Given the description of an element on the screen output the (x, y) to click on. 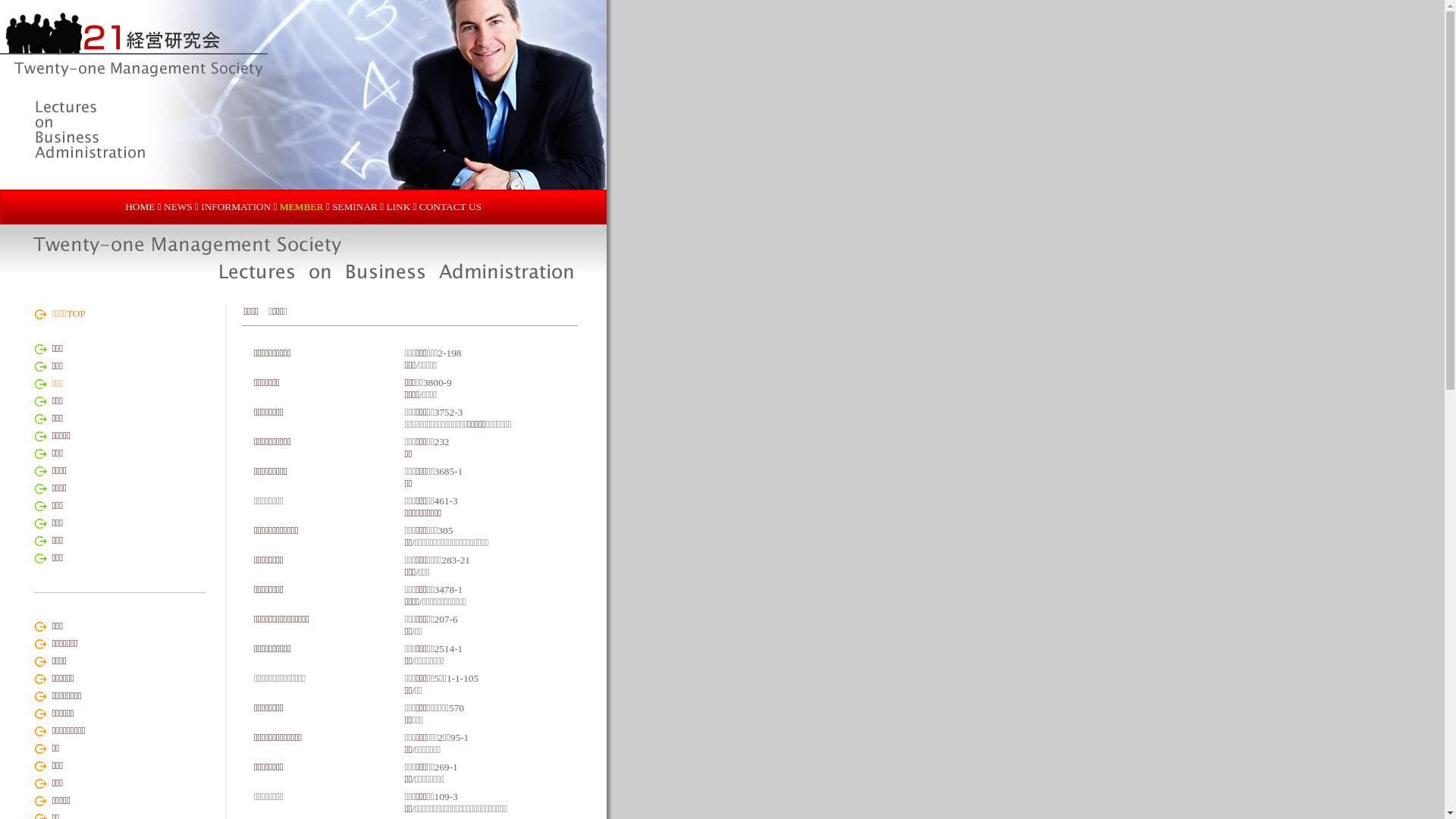
CONTACT US Element type: text (450, 206)
NEWS Element type: text (177, 206)
SEMINAR Element type: text (354, 206)
INFORMATION Element type: text (235, 206)
HOME Element type: text (139, 206)
MEMBER Element type: text (301, 206)
LINK Element type: text (397, 206)
